Given the description of an element on the screen output the (x, y) to click on. 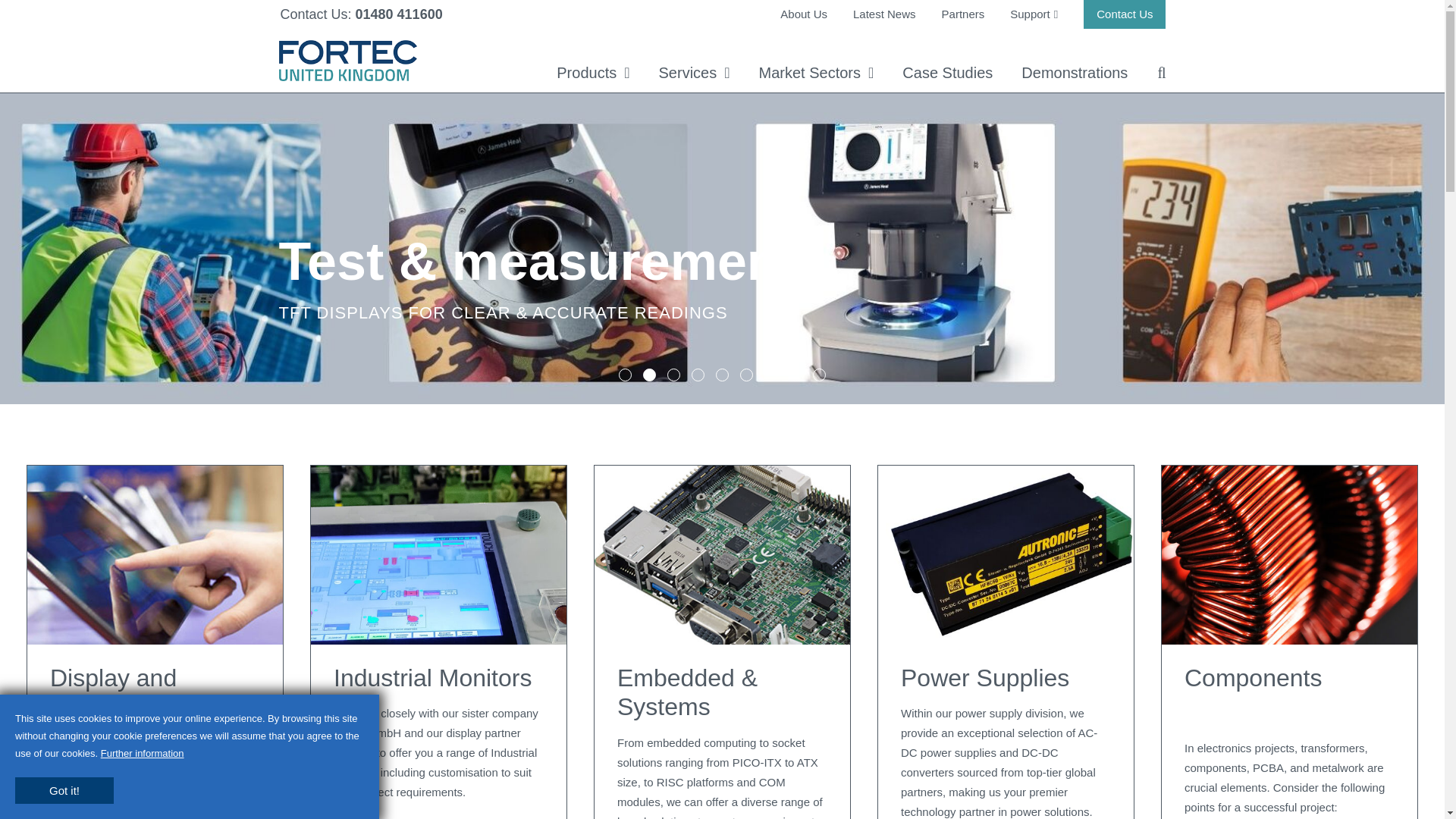
Support (1034, 13)
Contact Us (1124, 13)
Partners (963, 13)
About Us (803, 13)
Latest News (884, 13)
Products (592, 72)
